Given the description of an element on the screen output the (x, y) to click on. 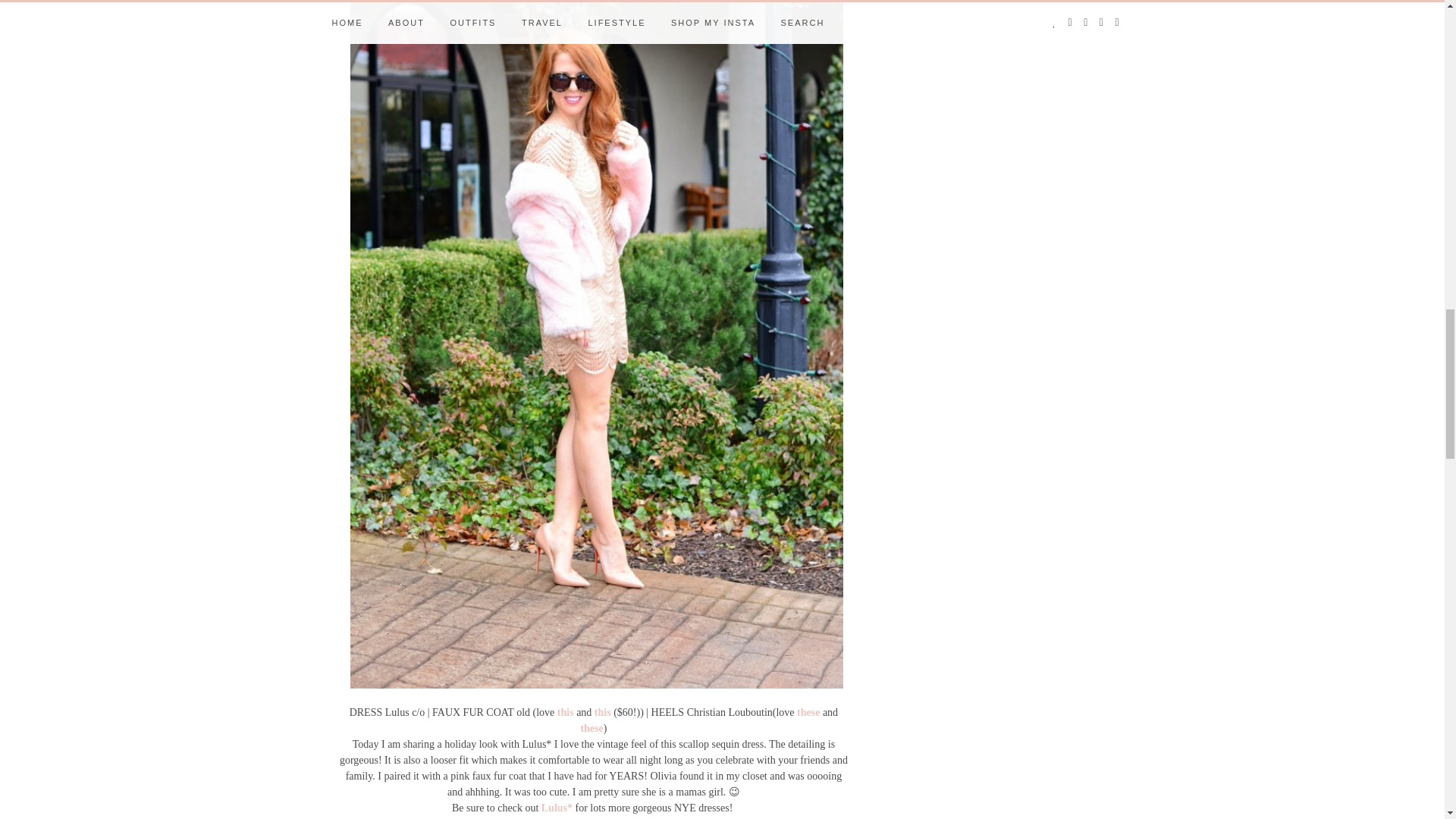
this (602, 712)
these (590, 727)
these (807, 712)
this (565, 712)
